Given the description of an element on the screen output the (x, y) to click on. 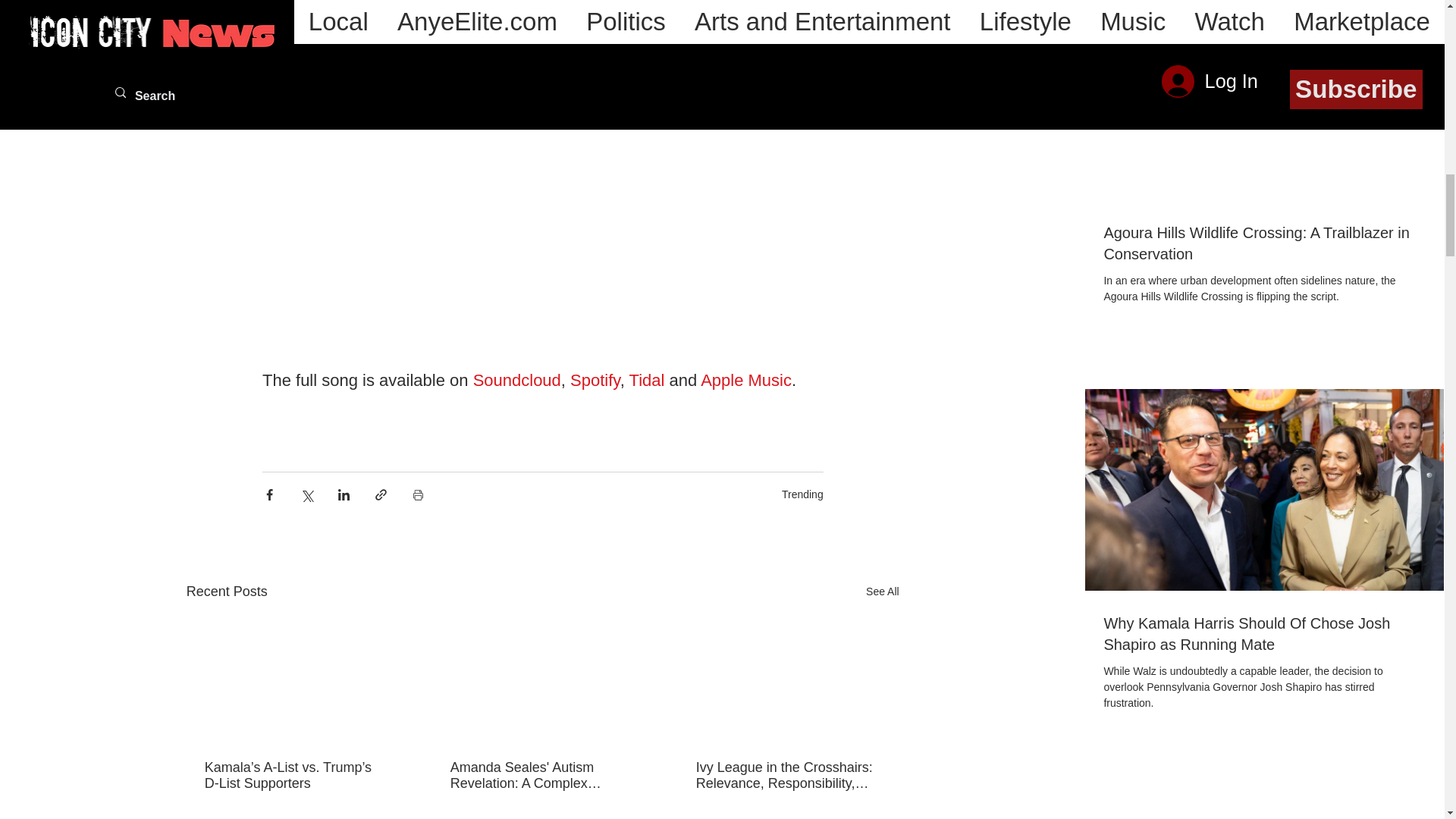
Tidal (645, 380)
Trending (802, 494)
Spotify (595, 380)
Amanda Seales' Autism Revelation: A Complex Perspective (541, 775)
Apple Music (746, 380)
Soundcloud (515, 380)
See All (882, 591)
